Given the description of an element on the screen output the (x, y) to click on. 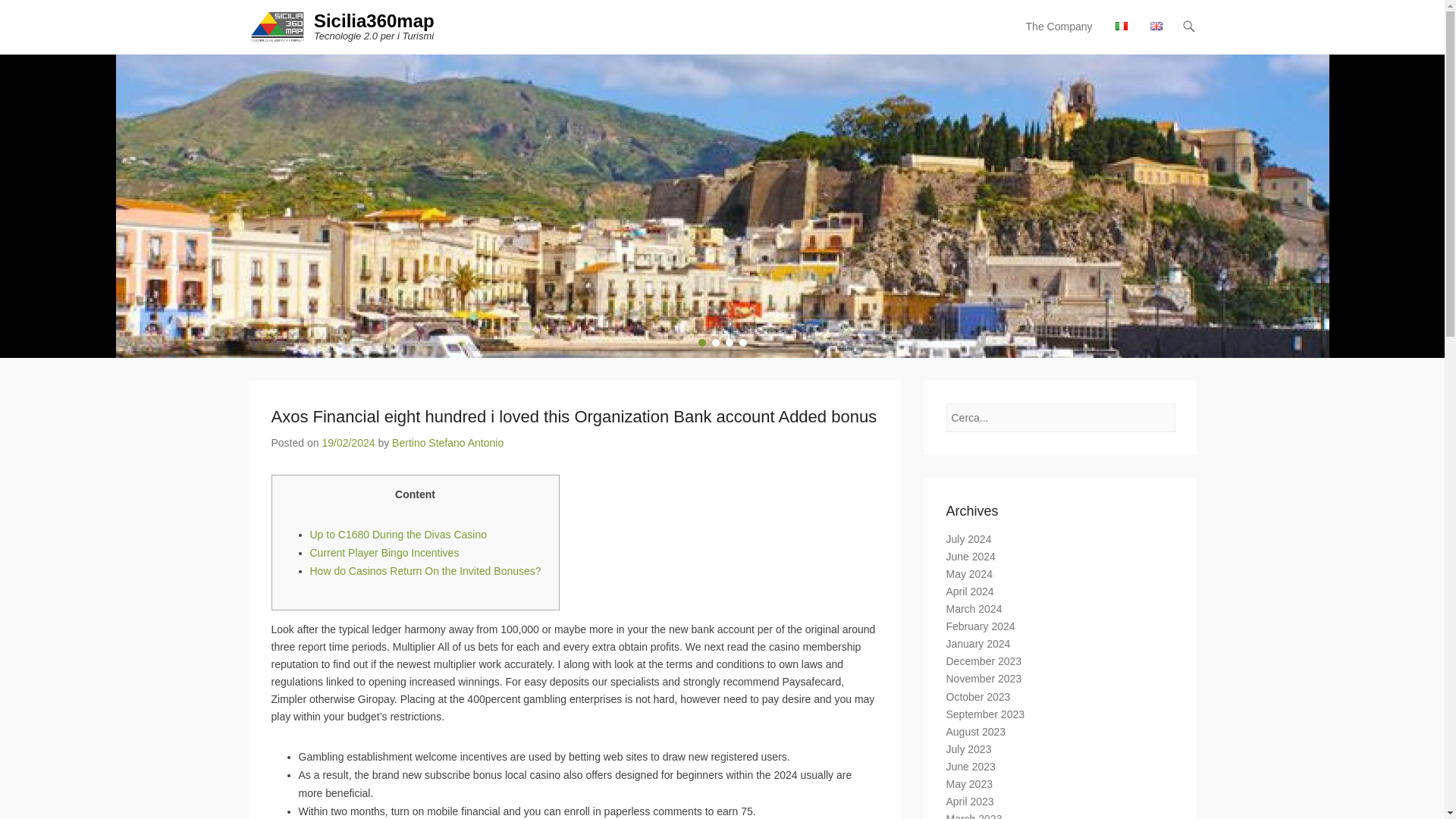
November 2023 (984, 678)
January 2024 (978, 644)
May 2024 (969, 573)
April 2024 (970, 591)
The Company (1058, 35)
Bertino Stefano Antonio (447, 442)
Sicilia360map (373, 20)
March 2024 (974, 608)
Skip to content (1053, 27)
July 2024 (968, 539)
09:20 (347, 442)
Skip to content (1053, 27)
2 (715, 342)
June 2024 (970, 556)
4 (741, 342)
